Given the description of an element on the screen output the (x, y) to click on. 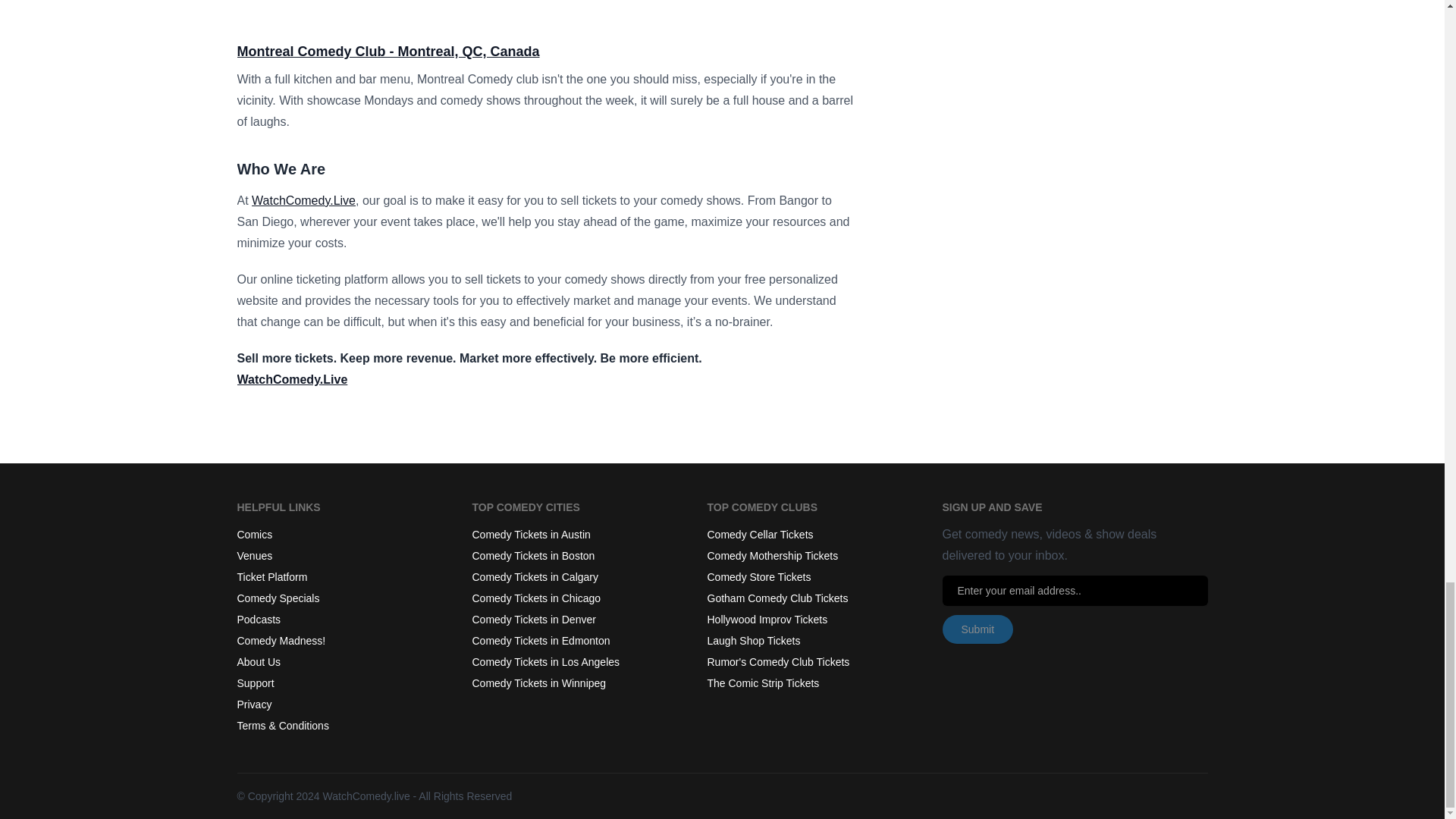
About Us (258, 662)
Ticket Platform (271, 576)
Privacy (252, 704)
Ticket Platform (271, 576)
Podcasts (258, 619)
Support (254, 683)
WatchComedy.Live (291, 379)
Comedy Tickets in Denver (533, 619)
Comedy Tickets in Edmonton (540, 640)
Comedy Tickets in Calgary (534, 576)
Privacy (252, 704)
WatchComedy.Live (303, 200)
Comedy Tickets in Chicago (535, 598)
Comics (253, 534)
Comedy Madness! (279, 640)
